Given the description of an element on the screen output the (x, y) to click on. 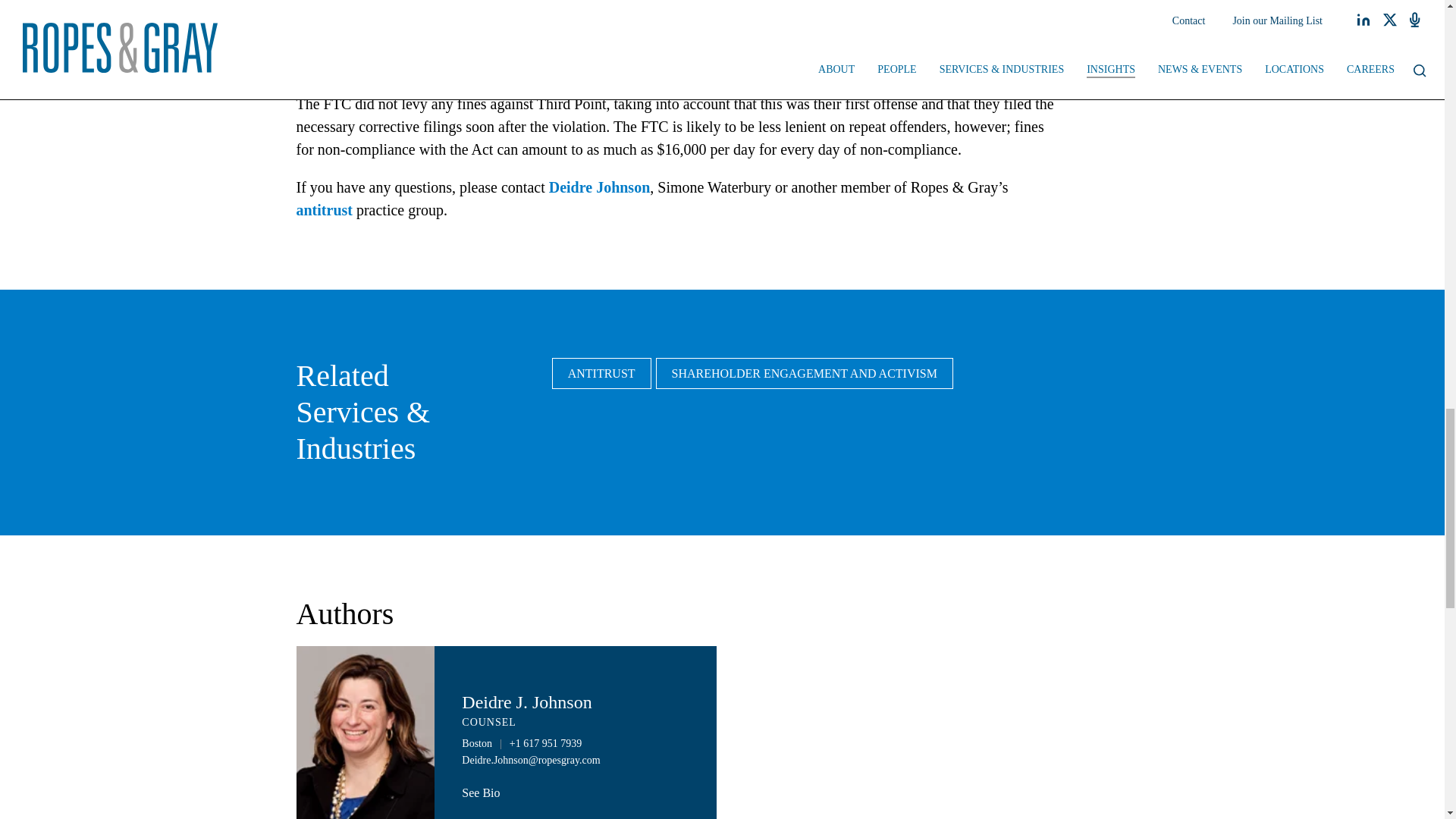
ANTITRUST (600, 373)
Deidre Johnson (599, 187)
antitrust (323, 209)
SHAREHOLDER ENGAGEMENT AND ACTIVISM (804, 373)
Deidre J. Johnson (526, 701)
